Given the description of an element on the screen output the (x, y) to click on. 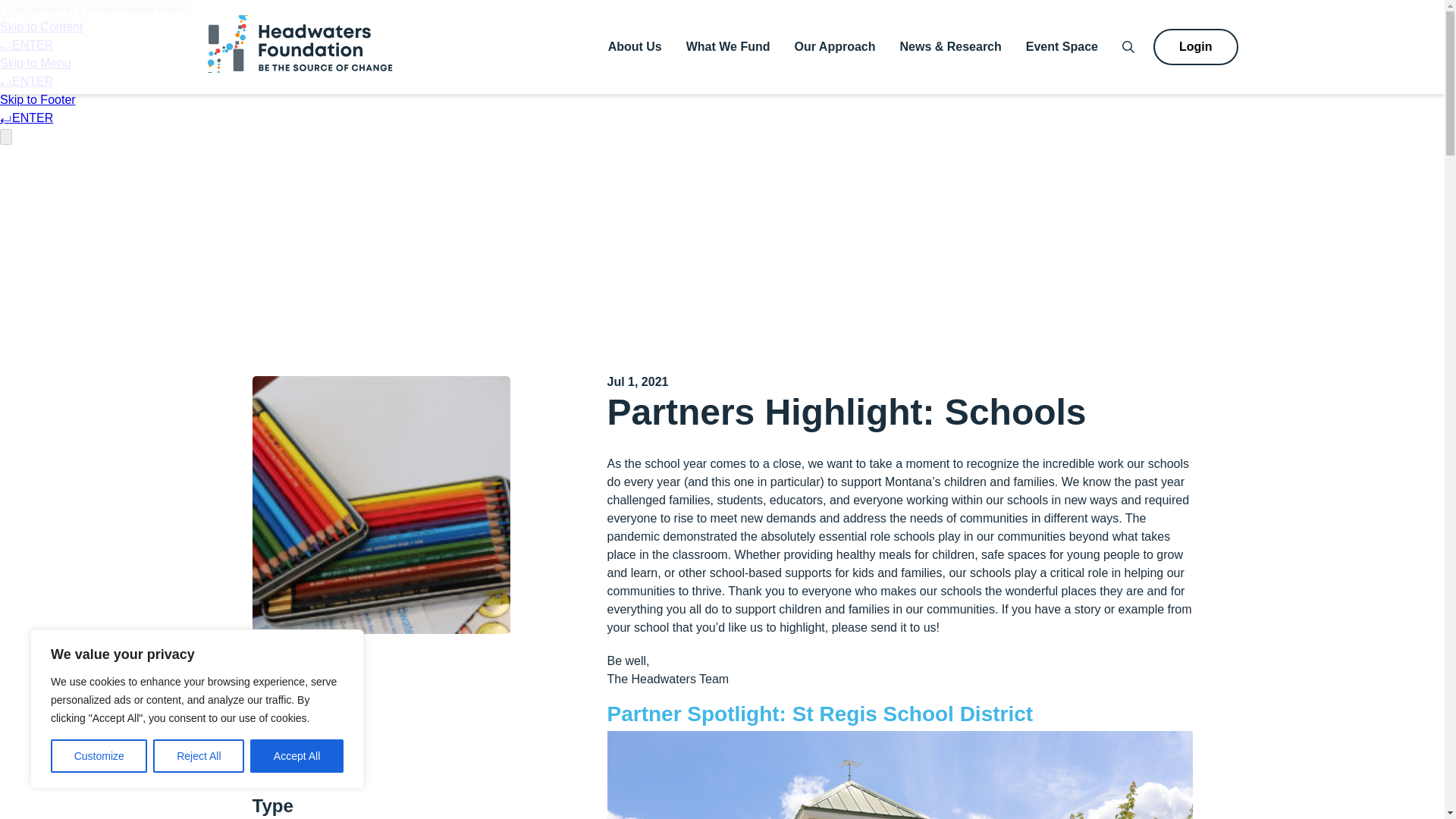
Customize (98, 756)
Our Approach (835, 46)
About Us (635, 46)
What We Fund (727, 46)
Event Space (1061, 46)
Accept All (296, 756)
Reject All (198, 756)
